Given the description of an element on the screen output the (x, y) to click on. 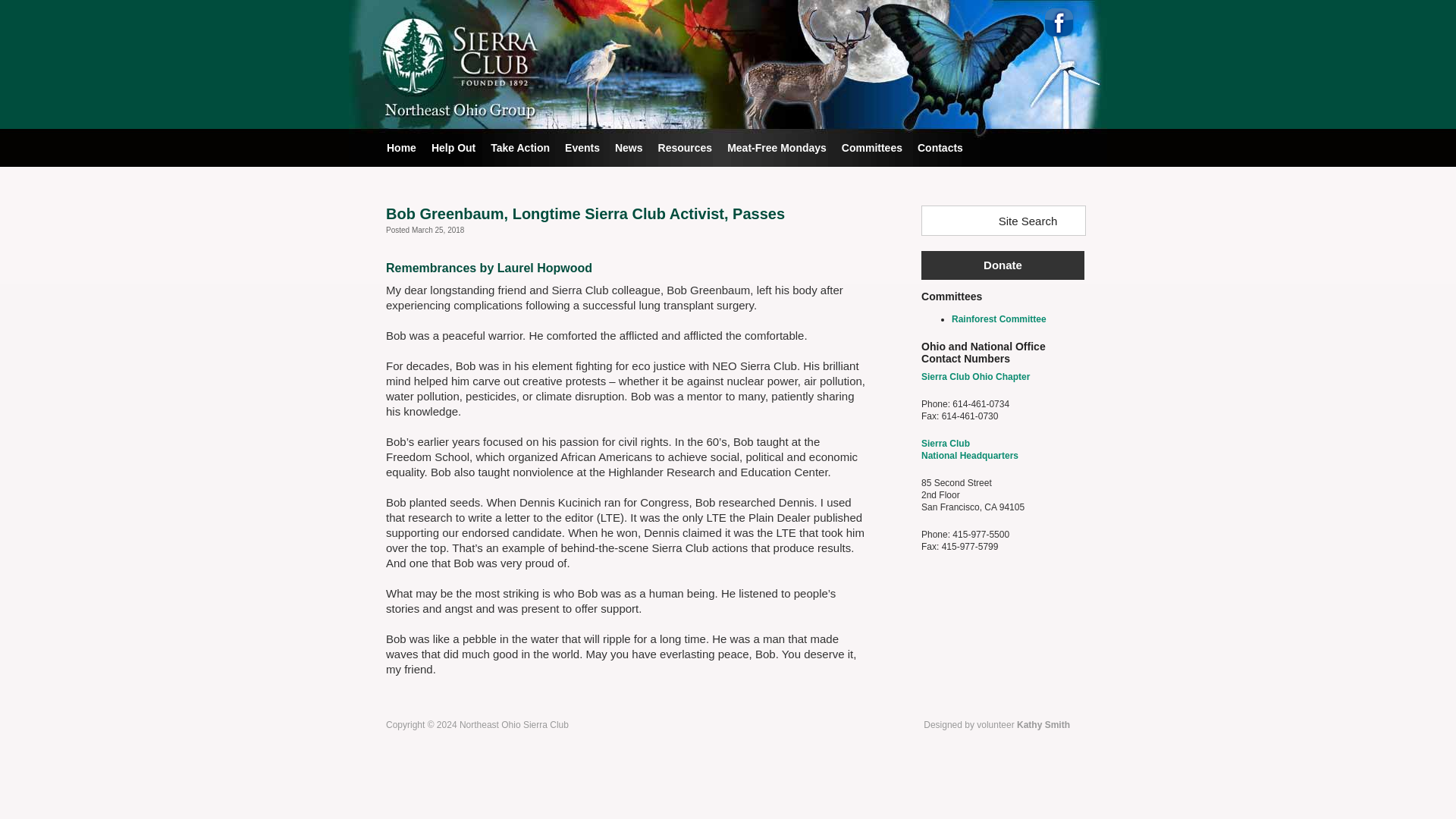
Meat-Free Mondays (776, 147)
Home (401, 147)
Rainforest Committee (999, 318)
Contacts (939, 147)
Email webmaster... (1043, 724)
Help Out (969, 449)
News (453, 147)
Donate (628, 147)
Kathy Smith (1002, 265)
Events (1043, 724)
Site Search (581, 147)
Sierra Club Ohio Chapter (989, 221)
Take Action (975, 376)
Resources (520, 147)
